Given the description of an element on the screen output the (x, y) to click on. 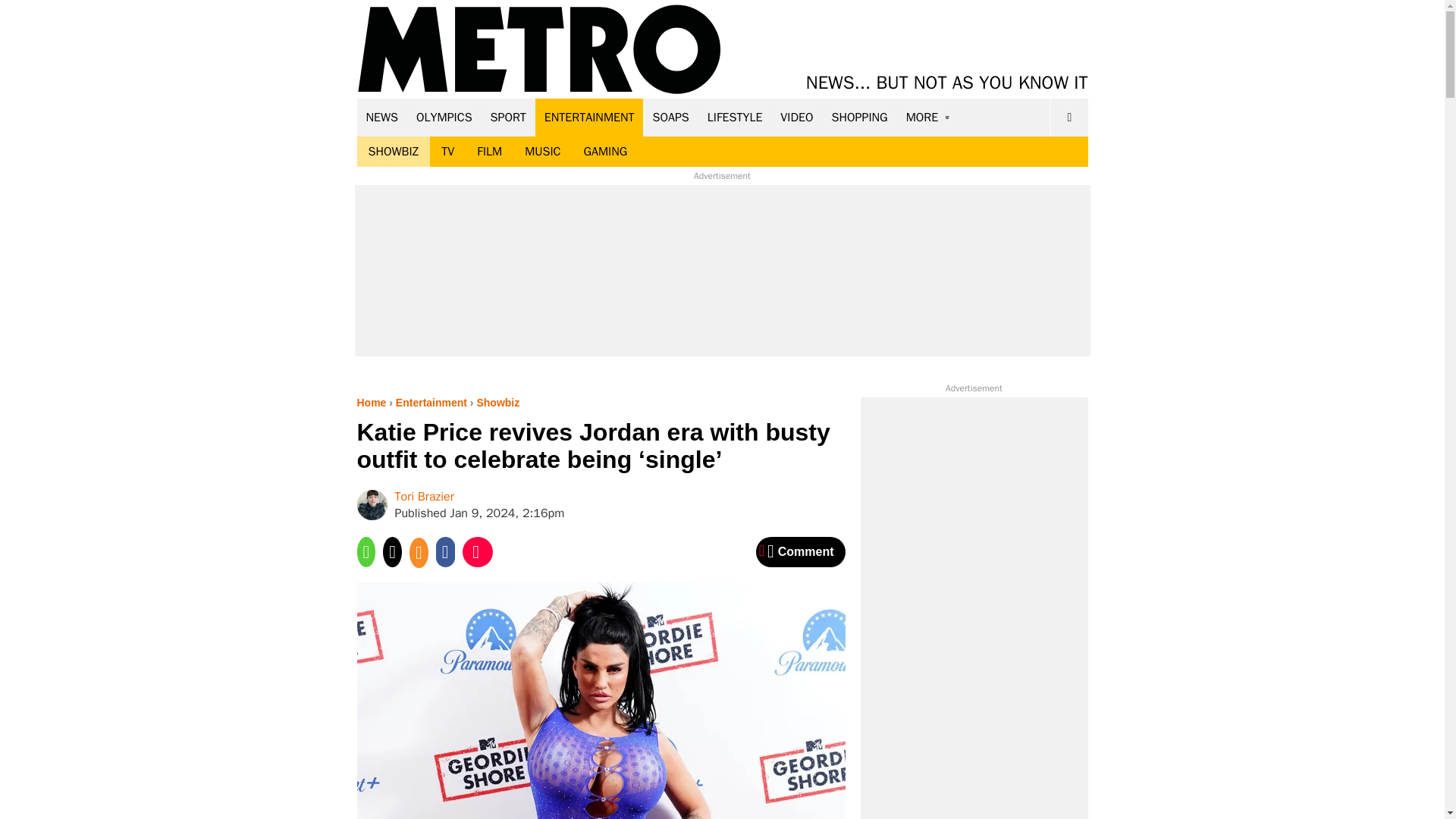
LIFESTYLE (734, 117)
SPORT (508, 117)
SHOWBIZ (392, 151)
ENTERTAINMENT (589, 117)
NEWS (381, 117)
TV (447, 151)
GAMING (605, 151)
Metro (539, 50)
FILM (489, 151)
SOAPS (670, 117)
